Given the description of an element on the screen output the (x, y) to click on. 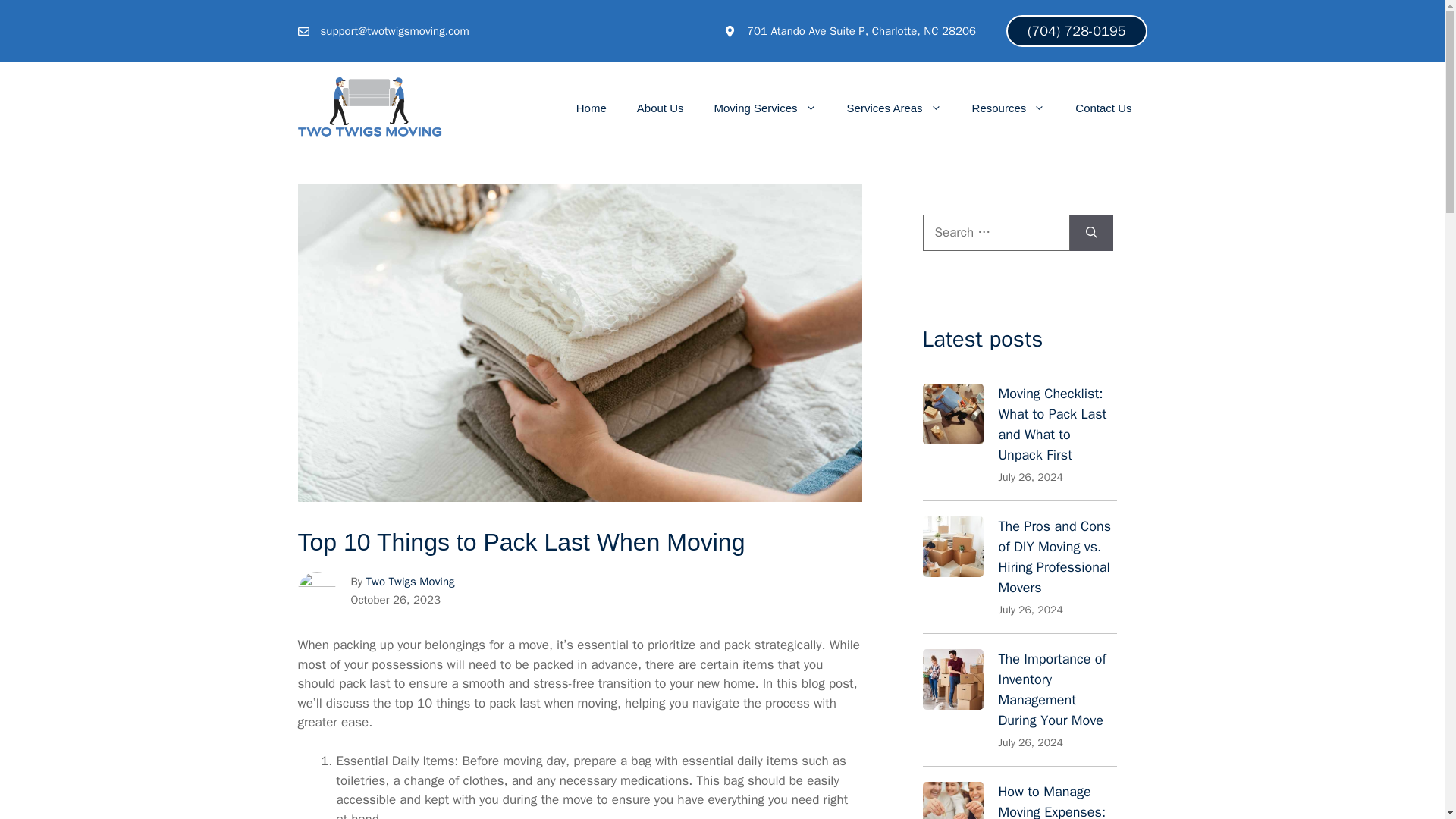
Services Areas (893, 108)
Moving Services (764, 108)
Home (590, 108)
Search for: (994, 232)
About Us (659, 108)
